Given the description of an element on the screen output the (x, y) to click on. 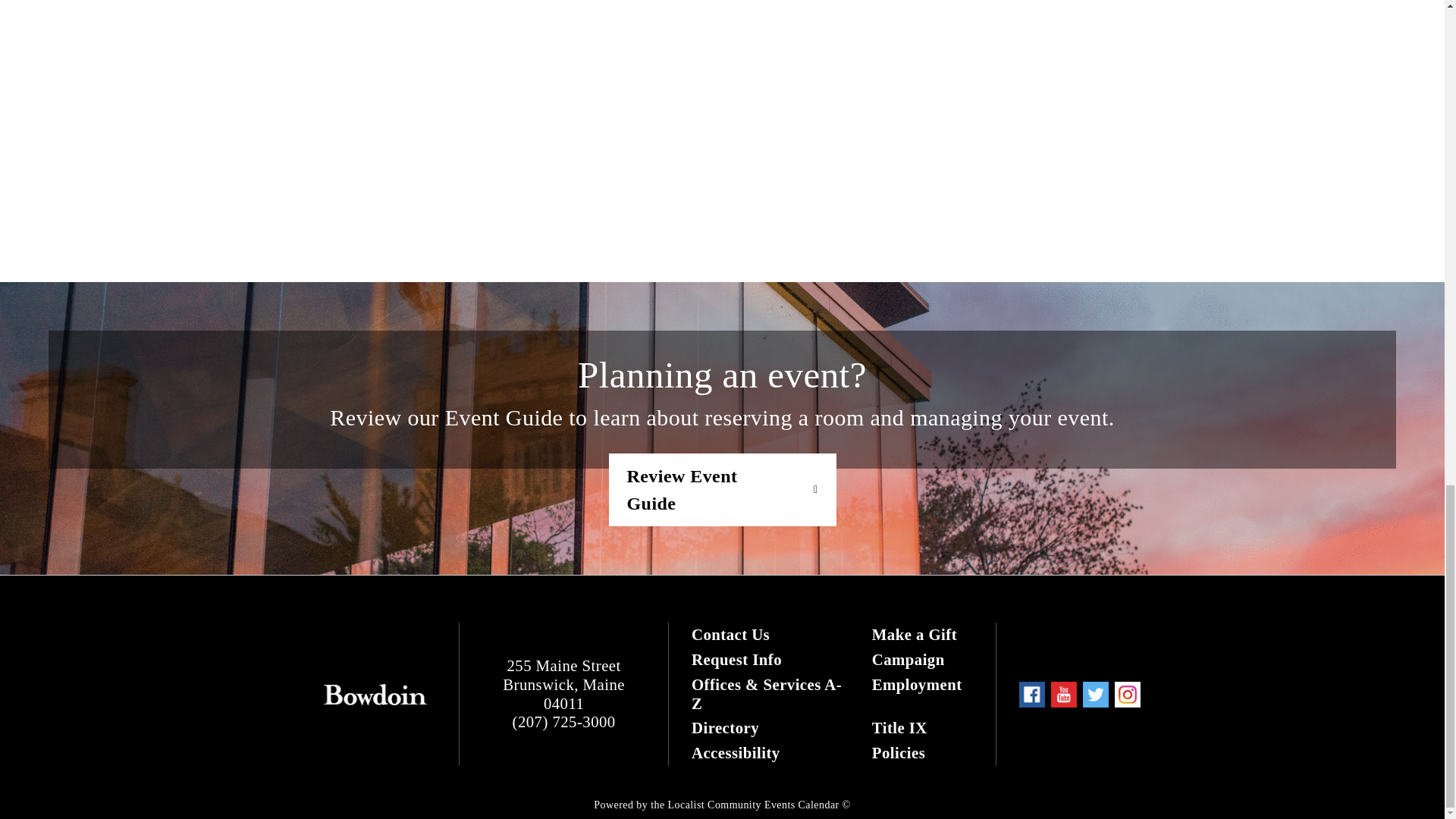
view location on Google Maps (563, 683)
Bowdoin College Home (374, 694)
